Given the description of an element on the screen output the (x, y) to click on. 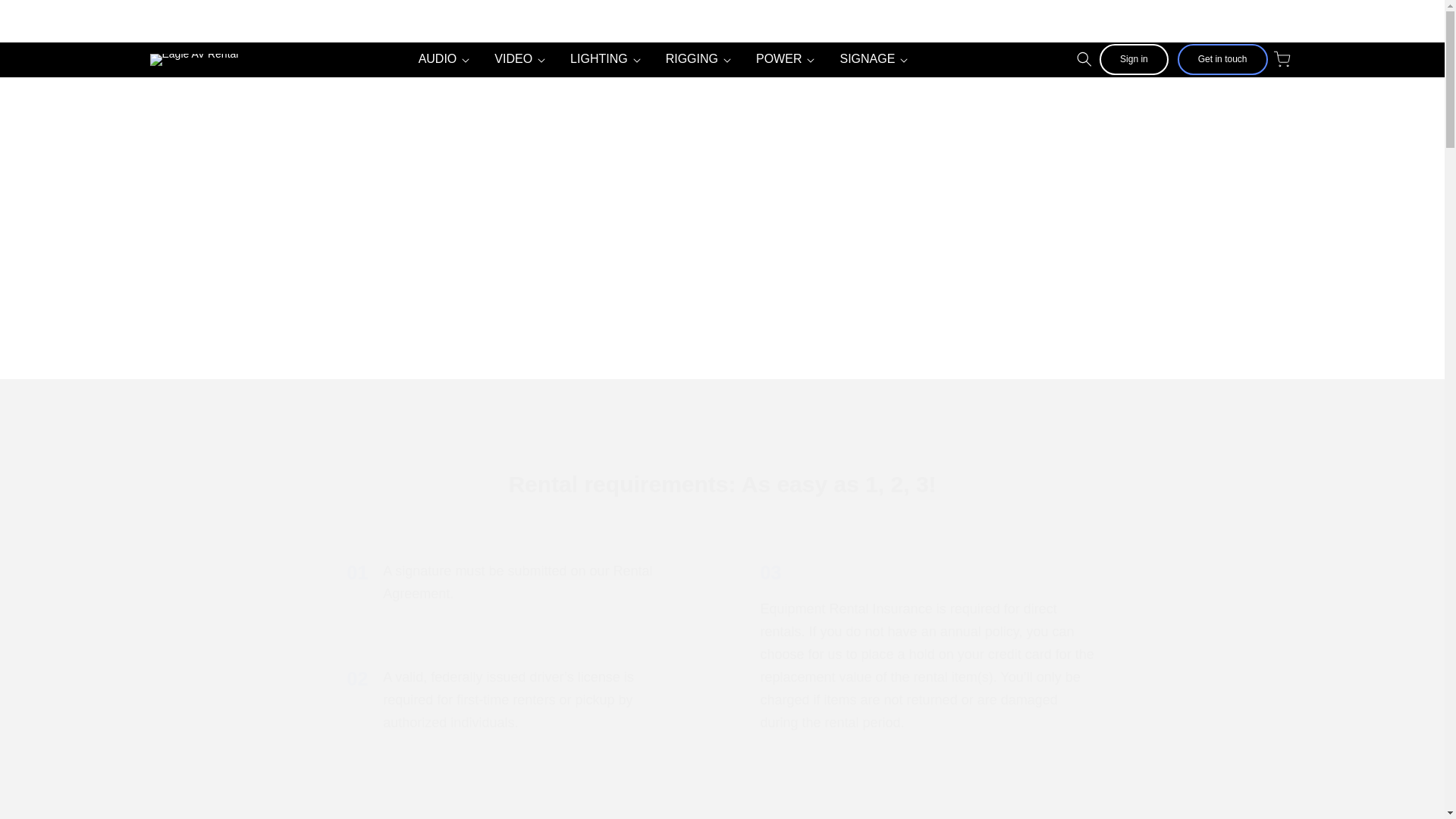
Skip to content (45, 17)
About us (1057, 20)
New Renter Information (722, 197)
Rental requirements: As easy as 1, 2, 3! (721, 484)
First-time Renter (1206, 20)
FAQ (515, 582)
Catalog (1283, 20)
